Given the description of an element on the screen output the (x, y) to click on. 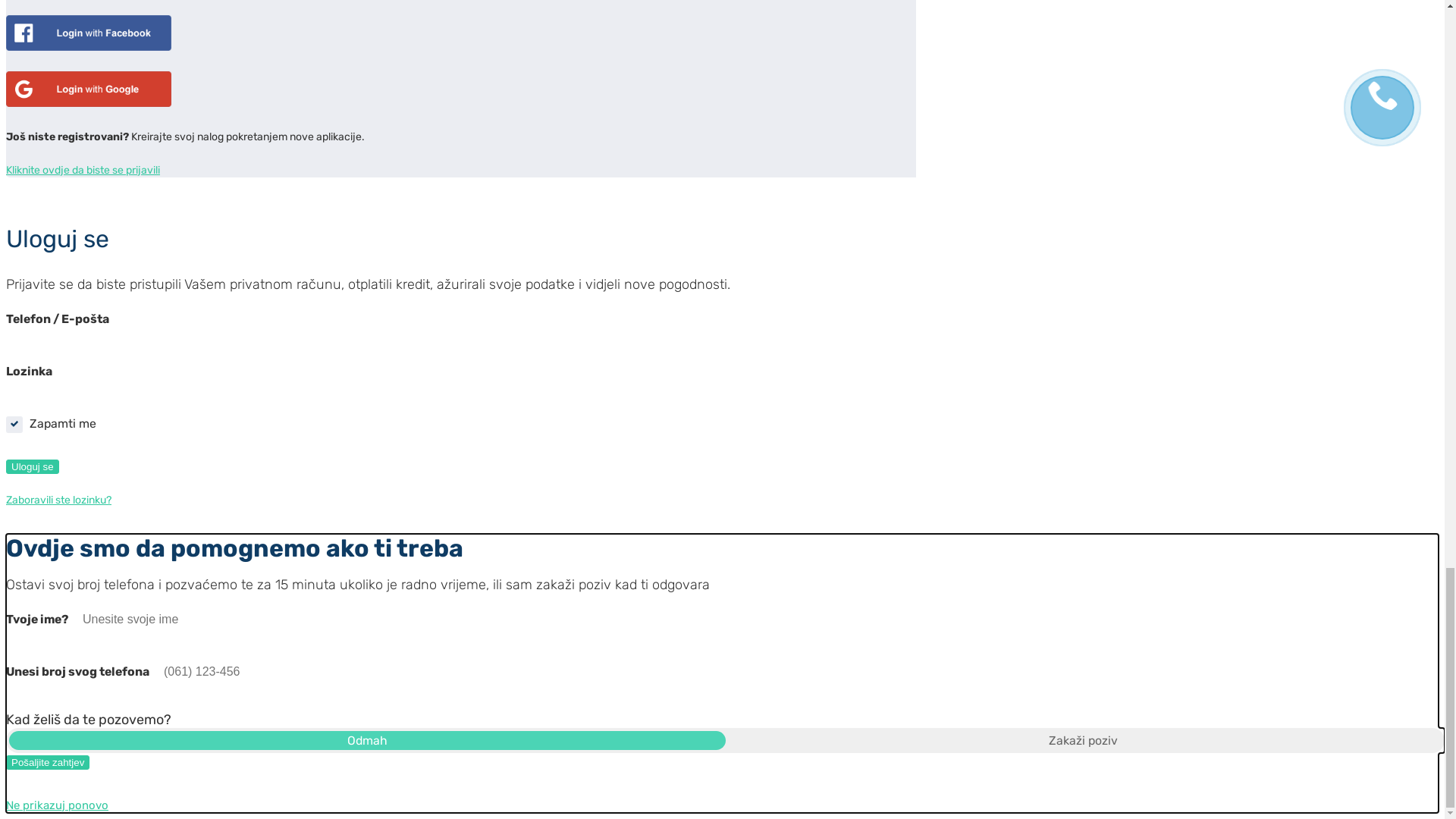
Aplicirajte odmah! Element type: text (858, 83)
Refinansiranje Element type: text (359, 83)
Partneri Element type: text (692, 83)
Kredit Element type: text (436, 83)
Otplata Element type: text (625, 83)
Pitanja i odgovori Element type: text (528, 83)
Kreddy Element type: text (22, 530)
404 Element type: text (59, 530)
Uloguj se Element type: text (768, 83)
Refinansiranje Element type: text (359, 84)
